Given the description of an element on the screen output the (x, y) to click on. 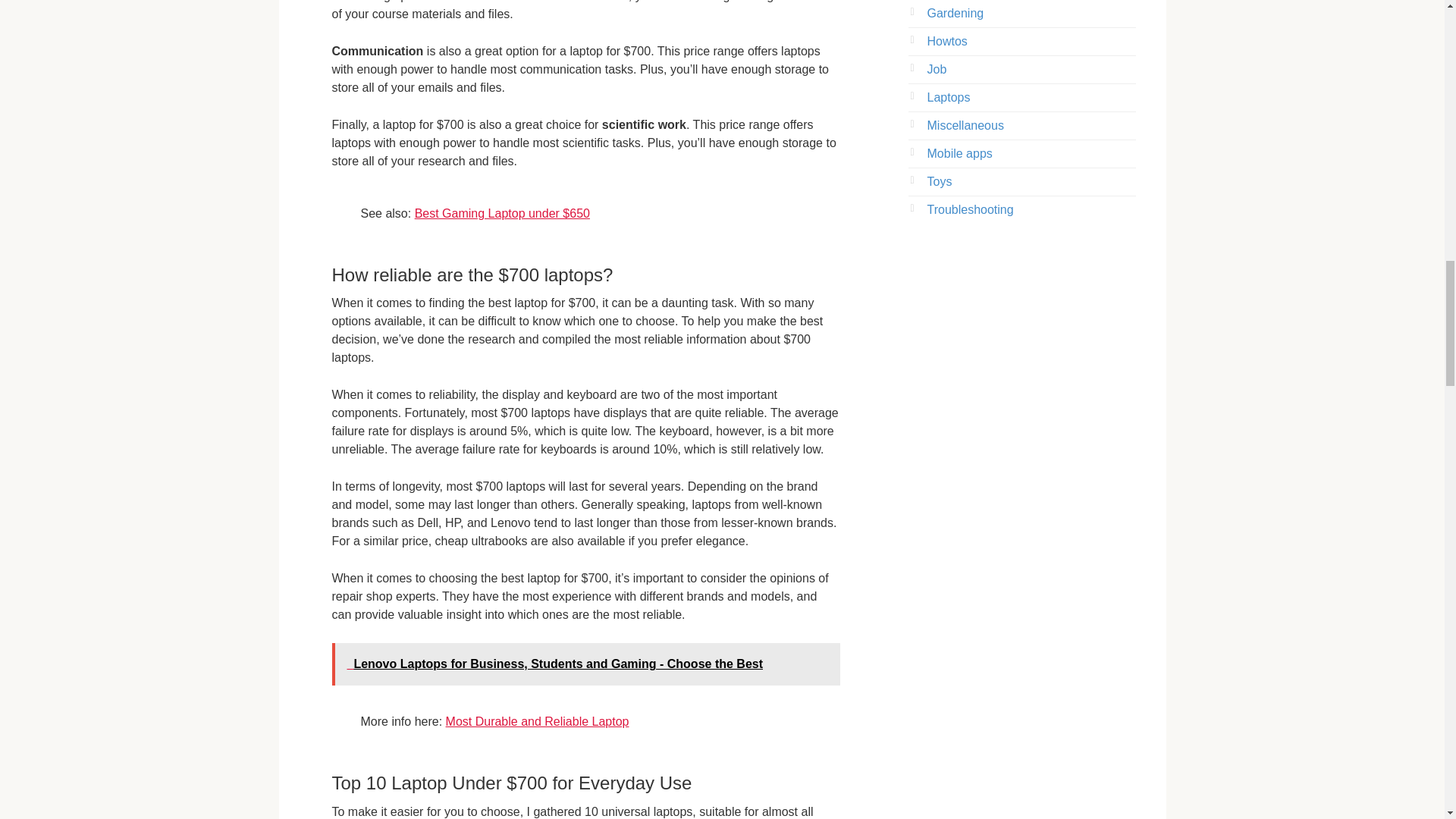
Most Durable and Reliable Laptop (536, 721)
